Given the description of an element on the screen output the (x, y) to click on. 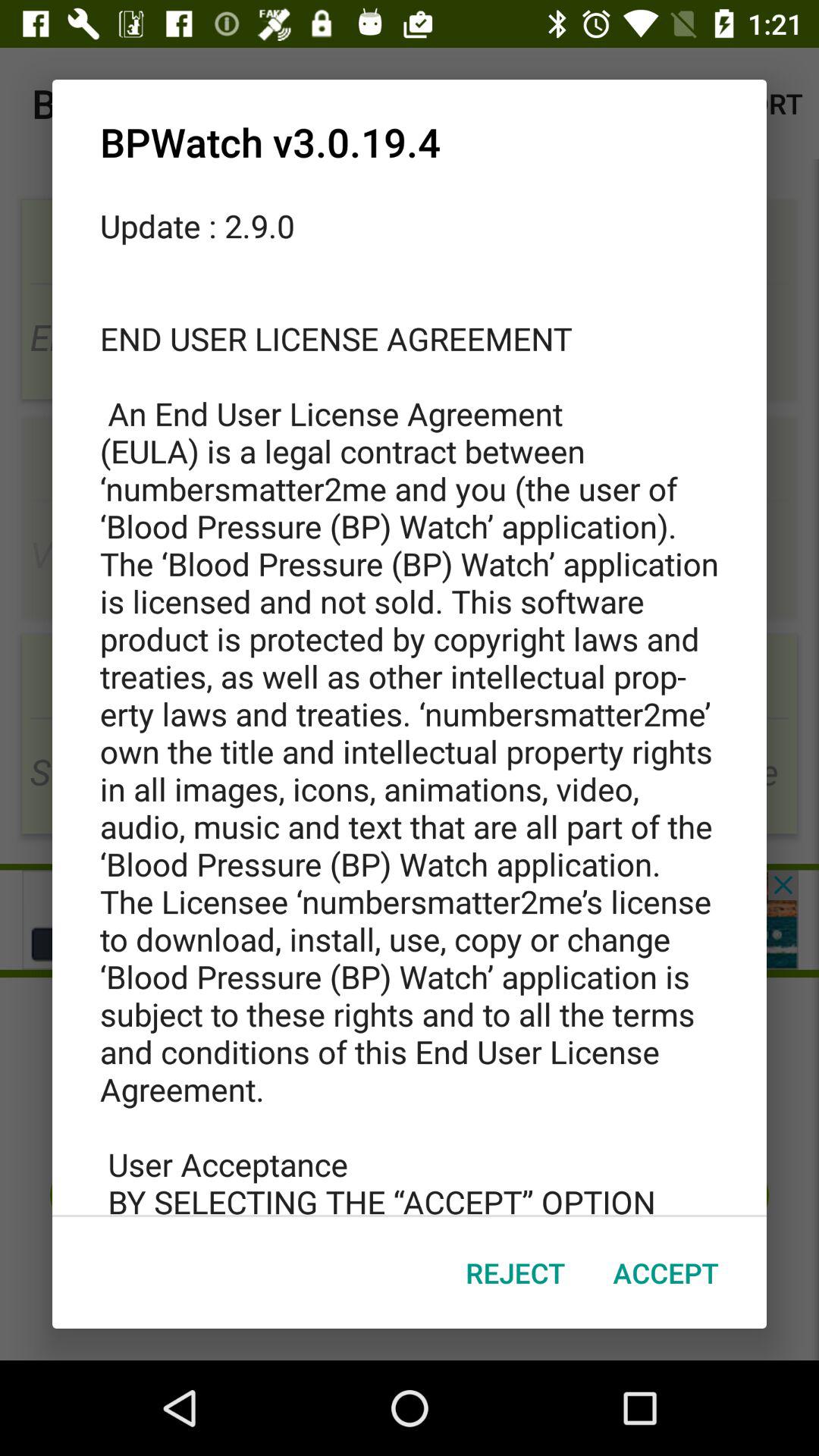
tap item to the left of the accept (515, 1272)
